Given the description of an element on the screen output the (x, y) to click on. 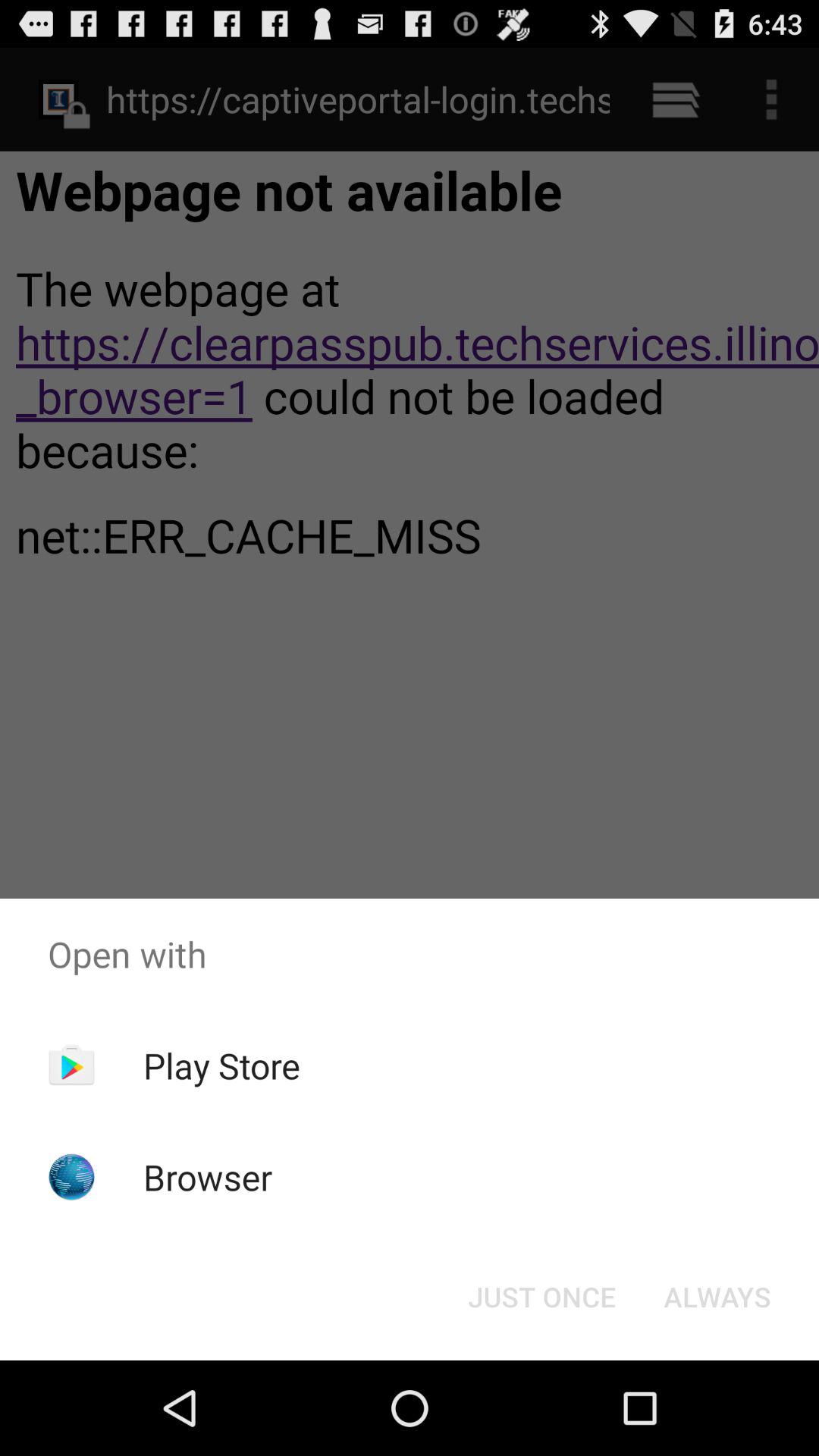
open the icon next to just once item (717, 1296)
